Given the description of an element on the screen output the (x, y) to click on. 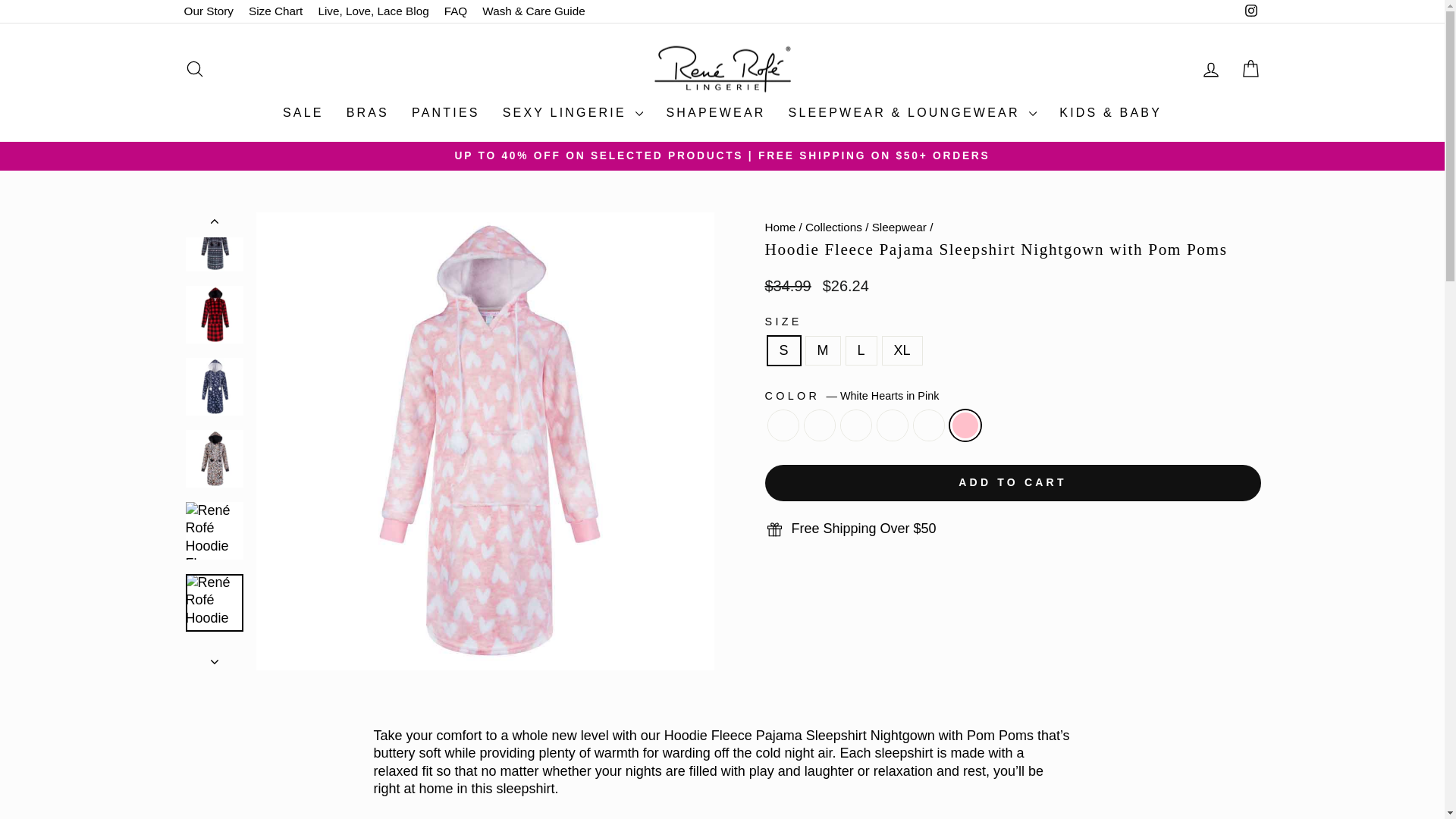
instagram (1250, 10)
ACCOUNT (1210, 69)
